Given the description of an element on the screen output the (x, y) to click on. 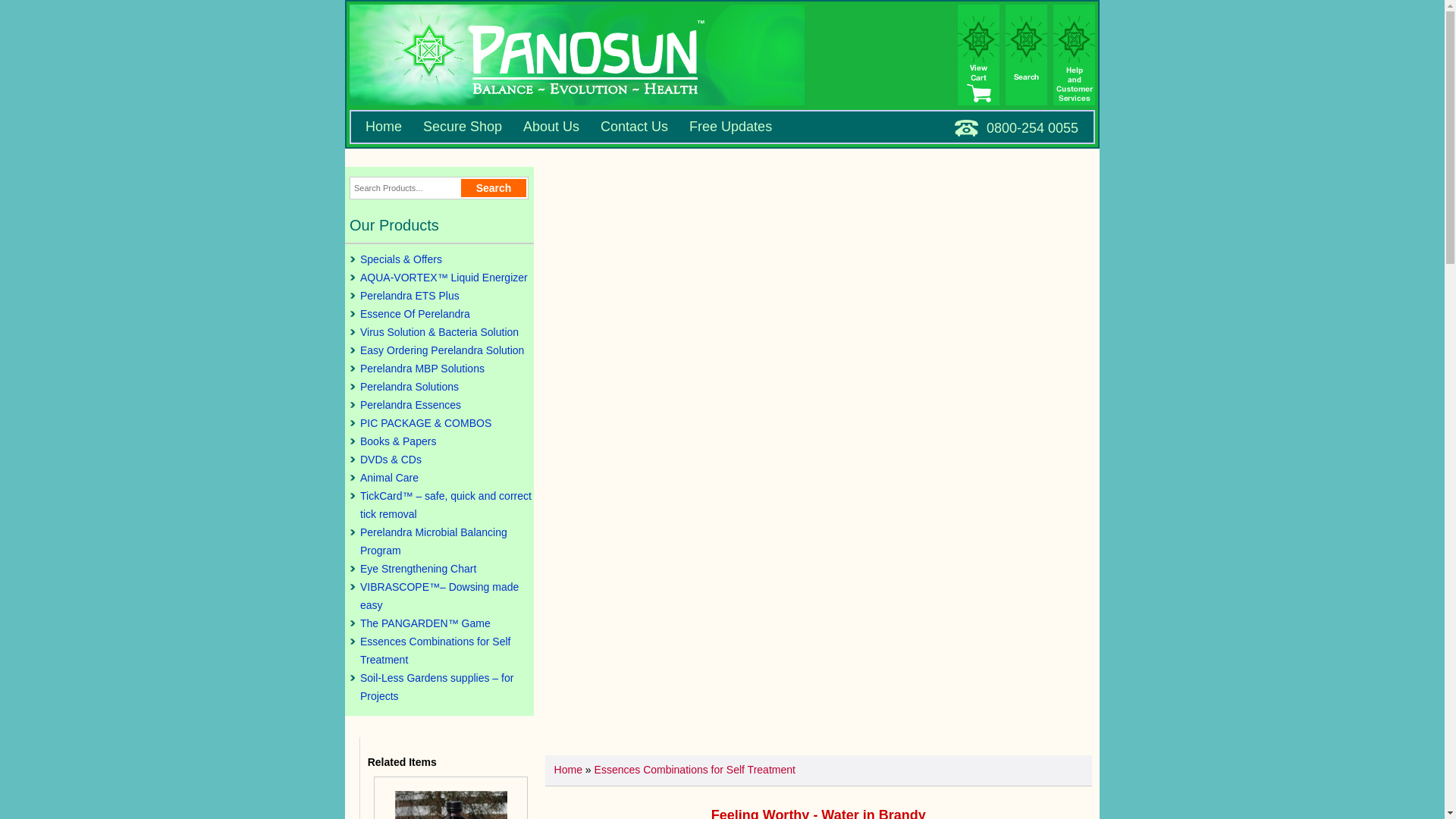
Search (494, 188)
Secure Shop (462, 126)
Home (383, 126)
Contact Us (633, 126)
Perelandra ETS Plus (439, 295)
Perelandra Solutions (439, 386)
Perelandra Essences (439, 404)
About Us (550, 126)
Free Updates (729, 126)
Perelandra MBP Solutions (439, 368)
Search (494, 188)
Easy Ordering Perelandra Solution (439, 350)
Essence Of Perelandra (439, 313)
